Given the description of an element on the screen output the (x, y) to click on. 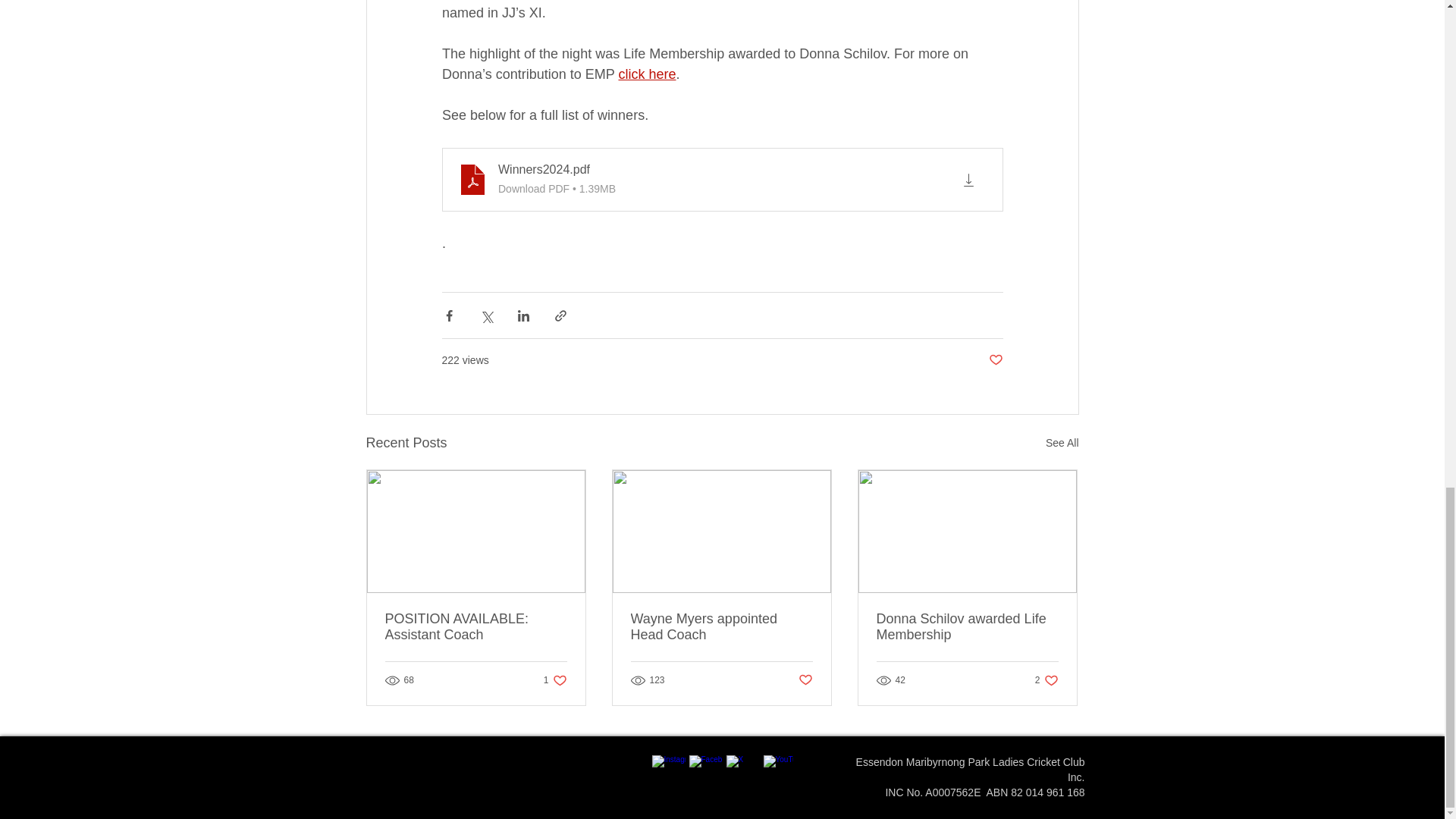
Post not marked as liked (804, 680)
Wayne Myers appointed Head Coach (721, 626)
Post not marked as liked (995, 360)
click here (555, 680)
See All (646, 73)
POSITION AVAILABLE: Assistant Coach (1061, 443)
Donna Schilov awarded Life Membership (476, 626)
